Given the description of an element on the screen output the (x, y) to click on. 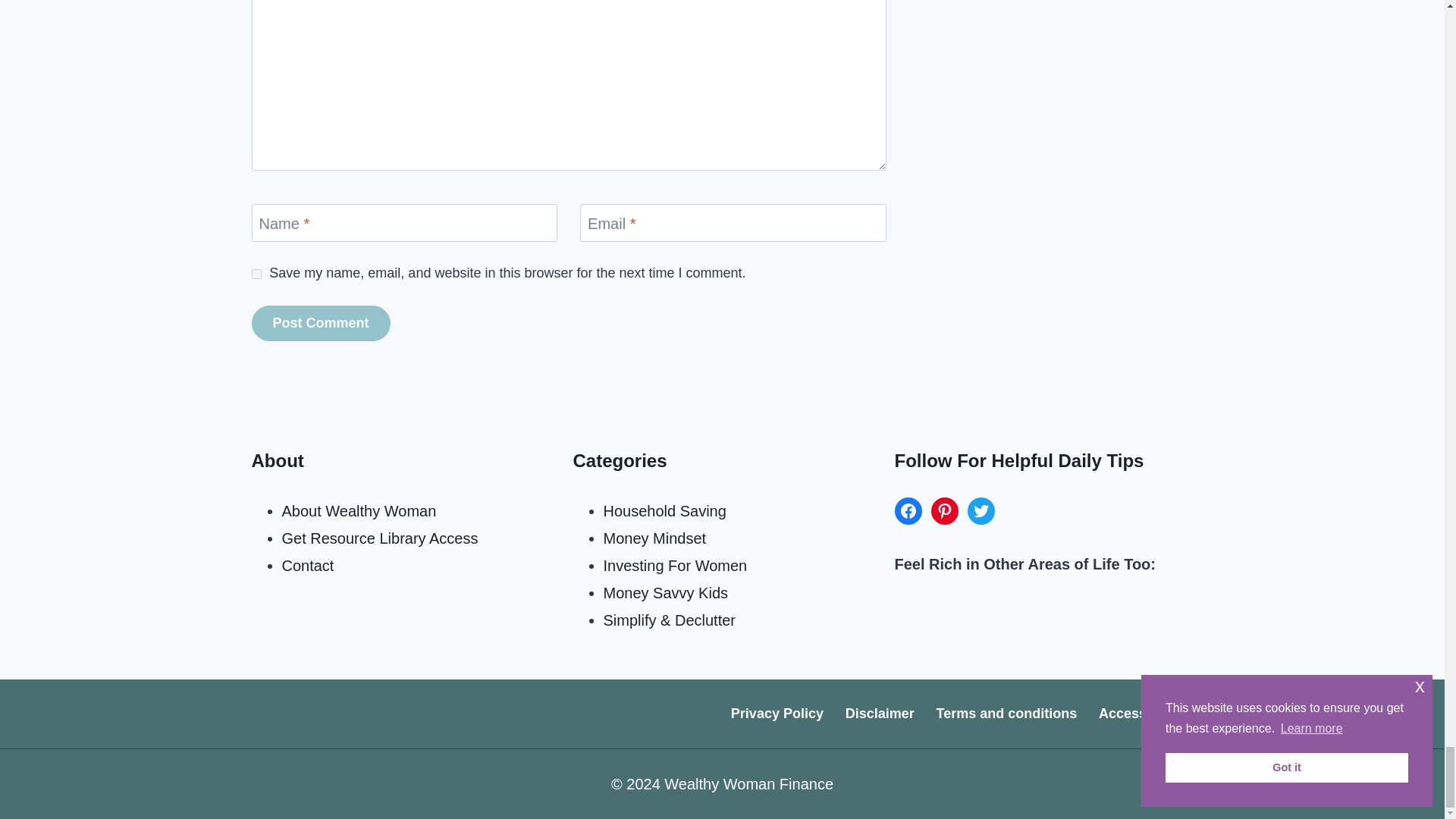
Post Comment (320, 323)
yes (256, 274)
